Given the description of an element on the screen output the (x, y) to click on. 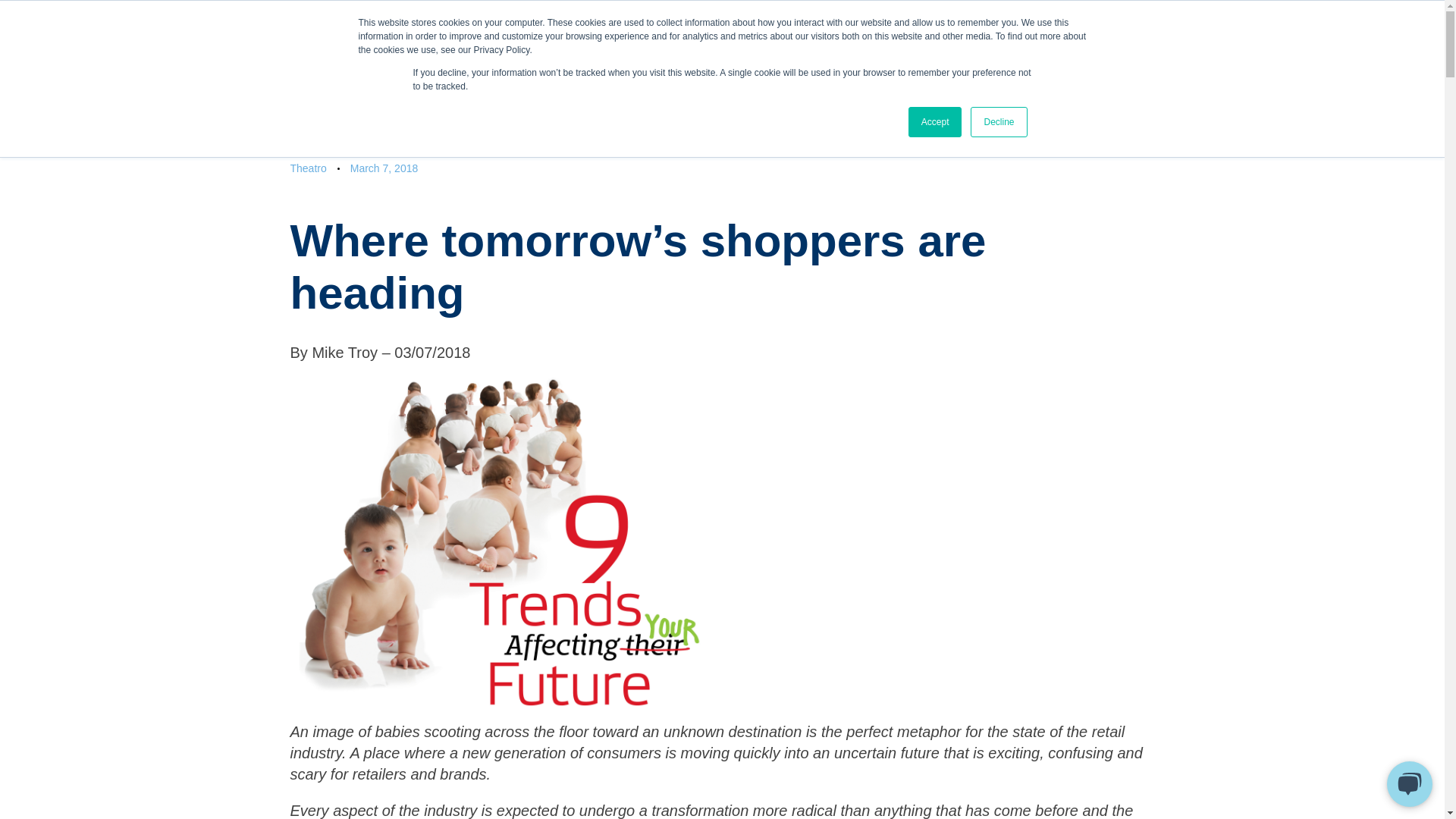
Accept (935, 122)
Decline (998, 122)
Theatro-logo (722, 24)
Posts by Theatro (307, 168)
